Given the description of an element on the screen output the (x, y) to click on. 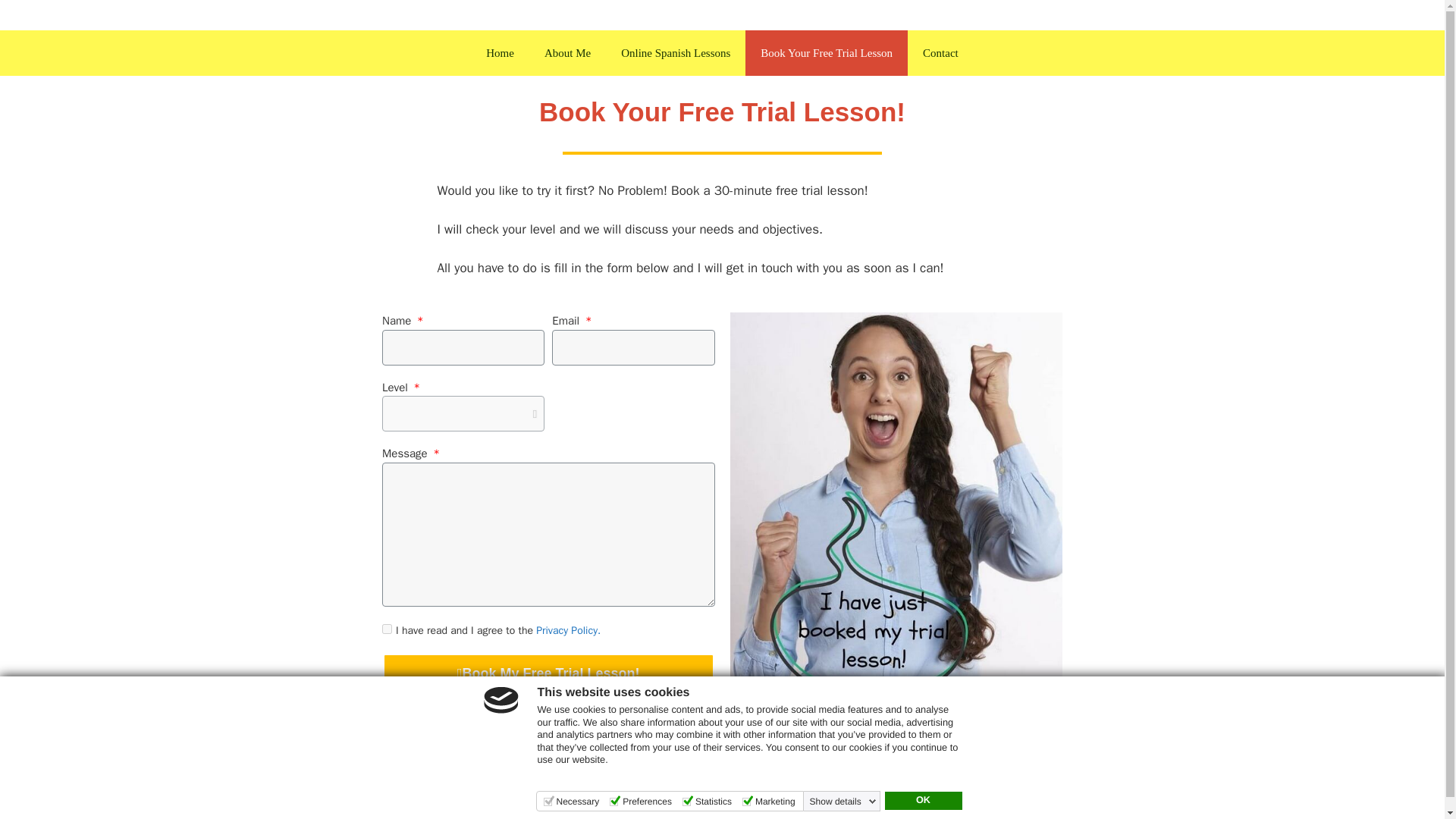
Book Your Free Trial Lesson (826, 53)
Contact (940, 53)
Privacy Policy (674, 744)
Home (499, 53)
Cookie Policy (929, 806)
Privacy Policy. (567, 630)
Book My Free Trial Lesson! (547, 672)
